Given the description of an element on the screen output the (x, y) to click on. 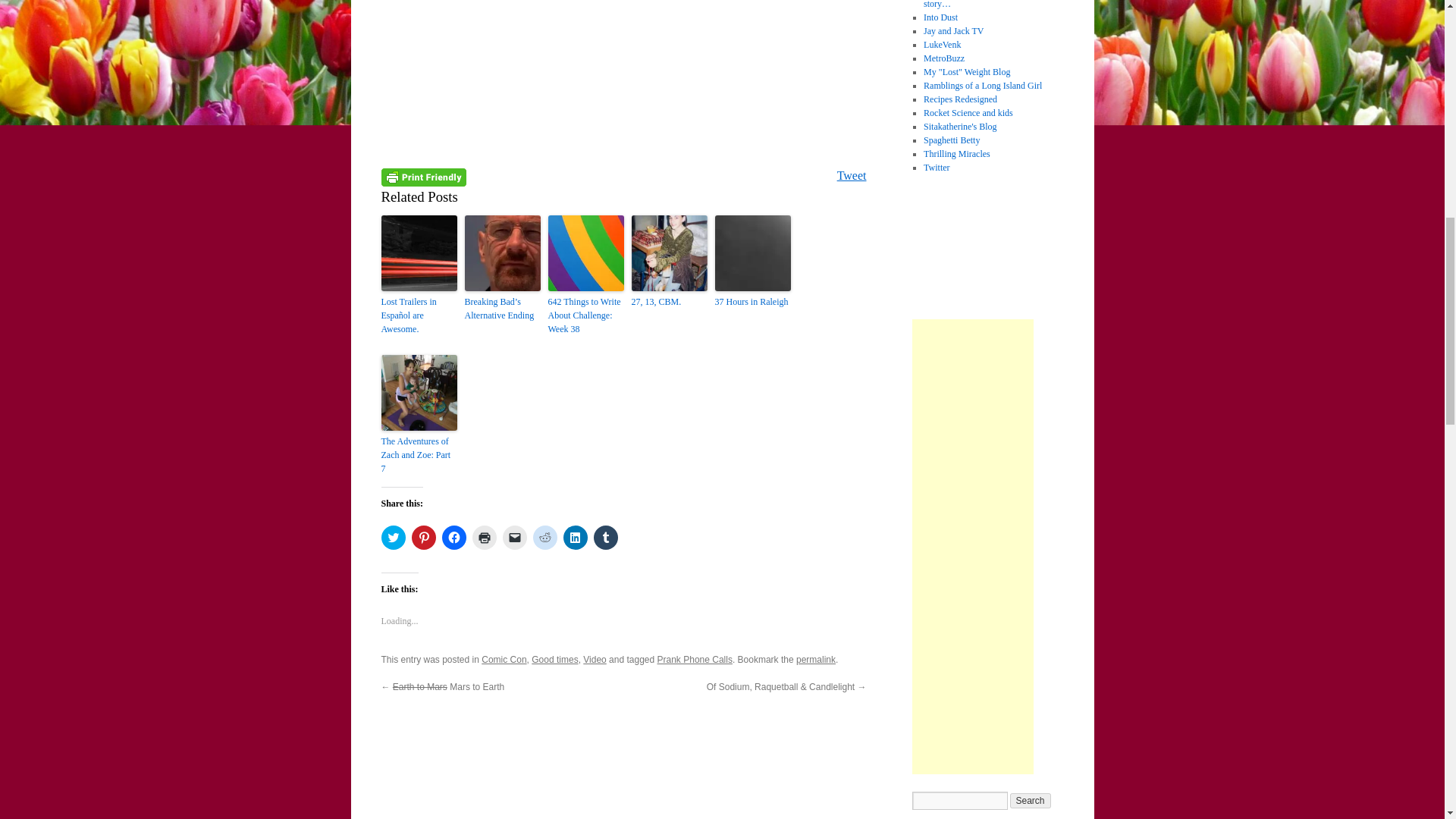
Search (1030, 800)
Click to email a link to a friend (513, 537)
Click to share on Pinterest (422, 537)
The Adventures of Zach and Zoe: Part 7 (418, 454)
Click to share on Reddit (544, 537)
Video (594, 659)
permalink (815, 659)
Click to share on LinkedIn (574, 537)
Prank Phone Calls (695, 659)
Tweet (851, 174)
